Given the description of an element on the screen output the (x, y) to click on. 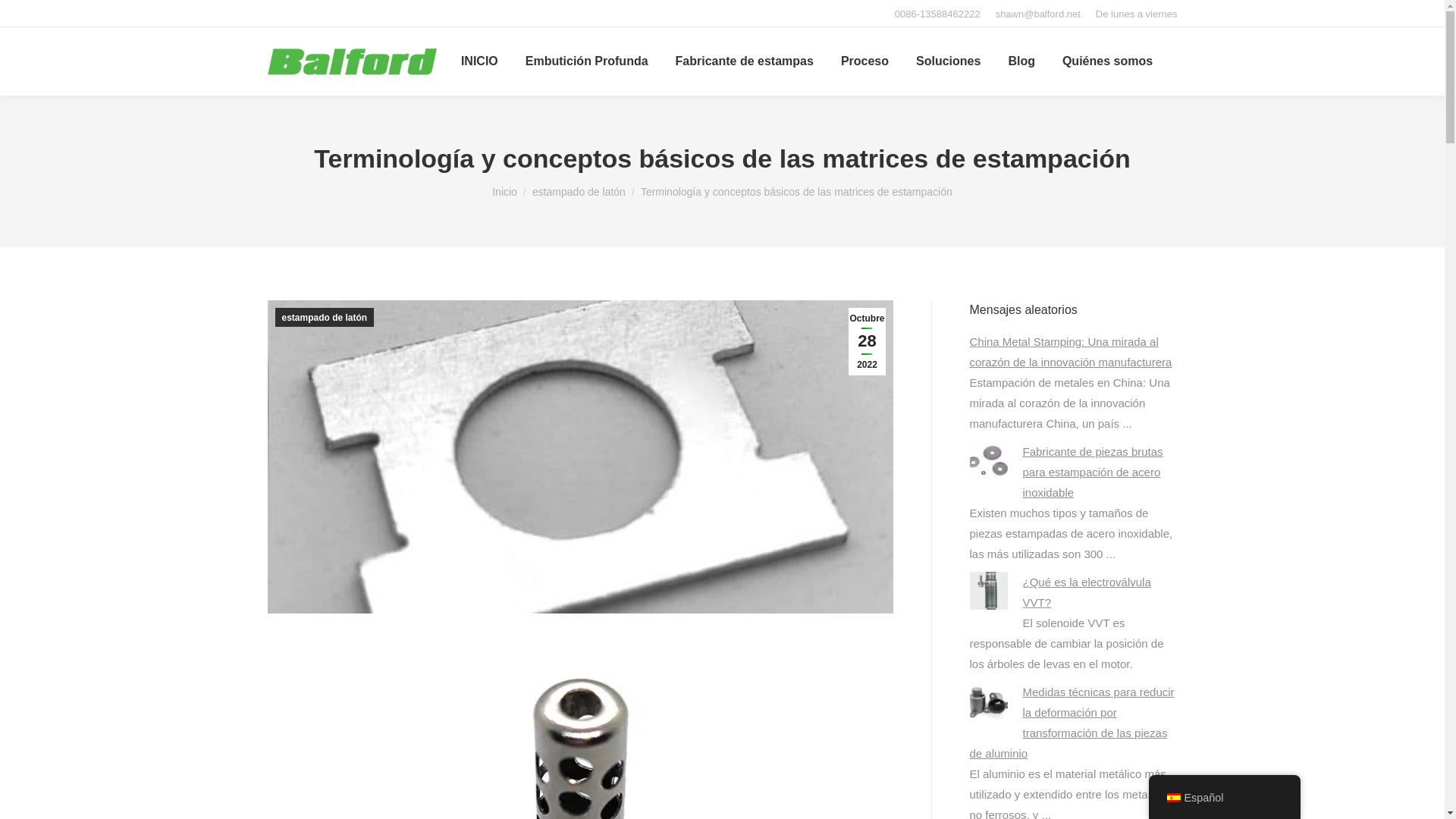
Ir! (20, 16)
2:46 am (866, 341)
Soluciones (948, 60)
Inicio (504, 191)
Fabricante de estampas (744, 60)
Blog (1021, 60)
Proceso (864, 60)
INICIO (479, 60)
